Given the description of an element on the screen output the (x, y) to click on. 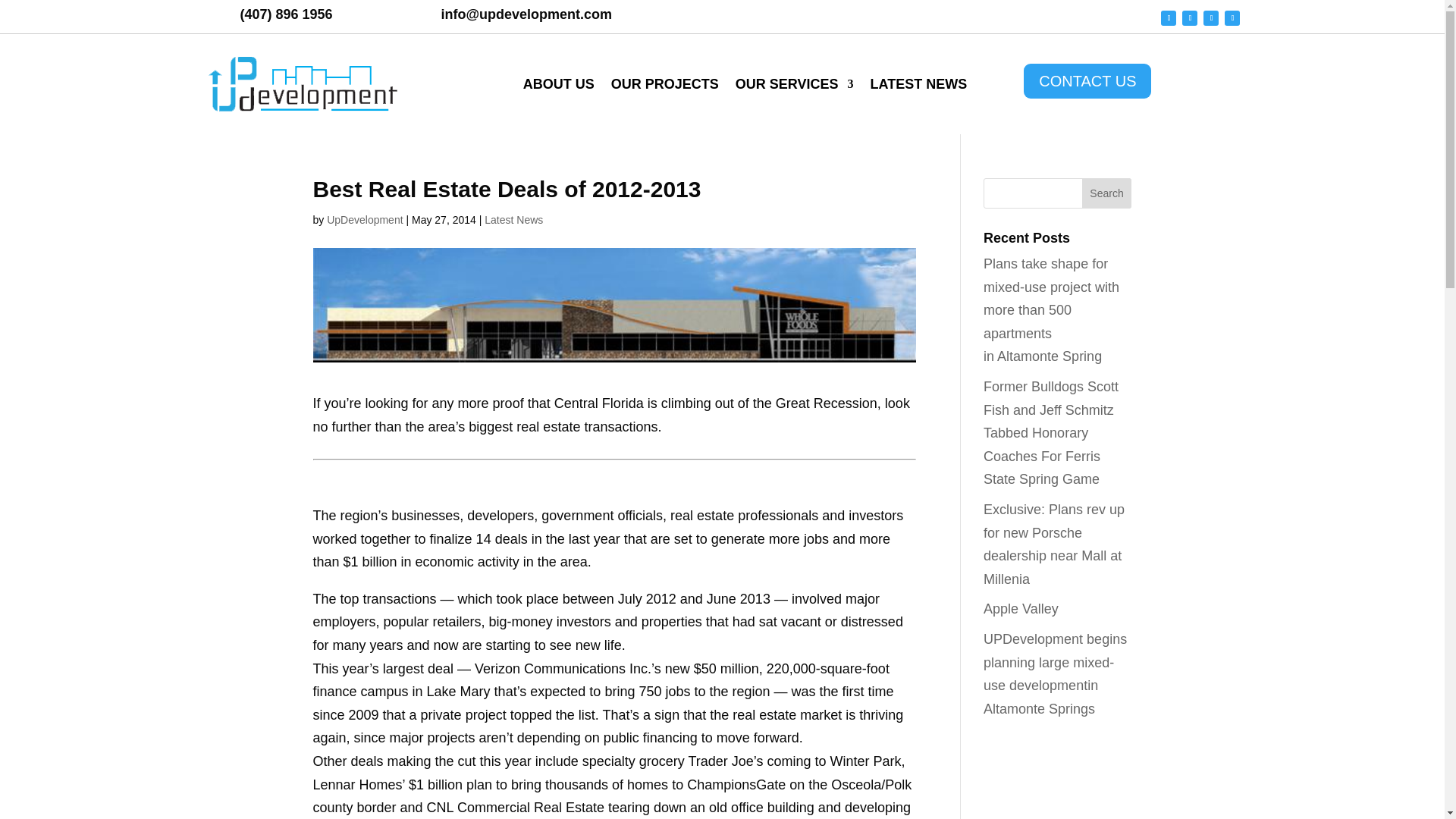
OUR PROJECTS (665, 83)
Search (1106, 193)
Follow on X (1211, 17)
Follow on LinkedIn (1232, 17)
Latest News (513, 219)
Posts by UpDevelopment (364, 219)
Follow on Instagram (1189, 17)
